Given the description of an element on the screen output the (x, y) to click on. 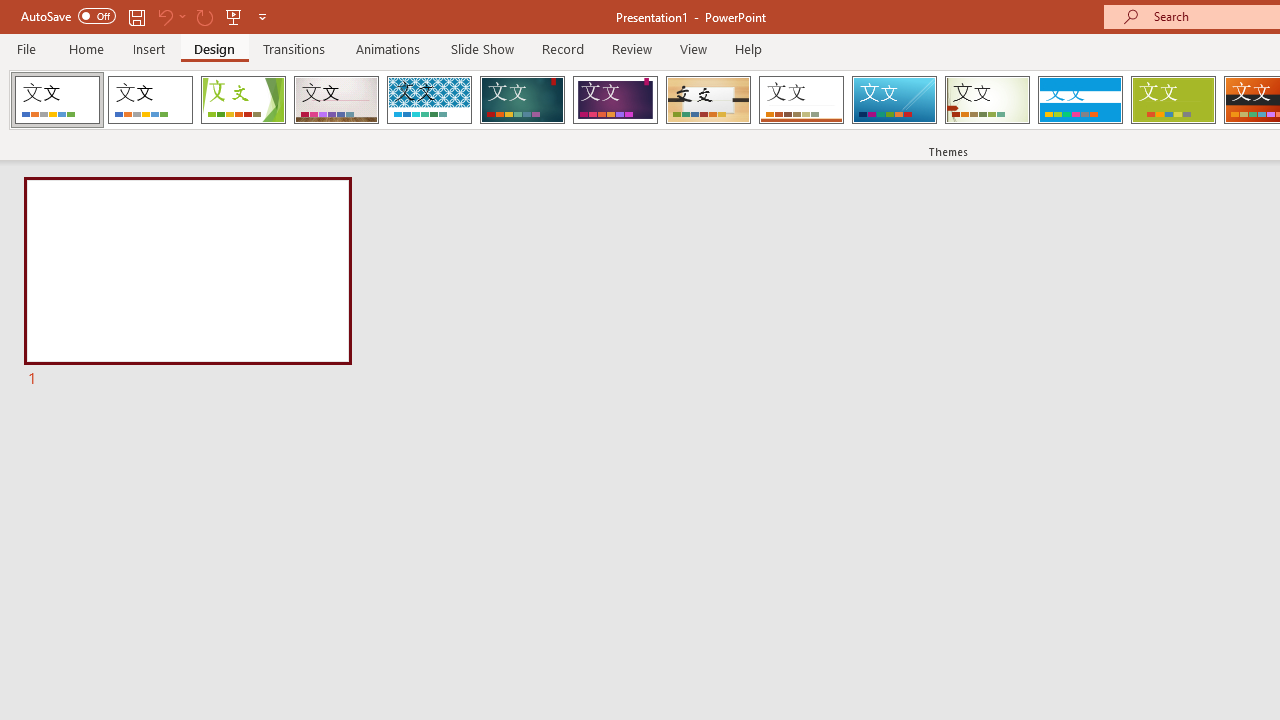
Slice Loading Preview... (893, 100)
Basis Loading Preview... (1172, 100)
Organic Loading Preview... (708, 100)
Banded Loading Preview... (1080, 100)
Ion Loading Preview... (522, 100)
Ion Boardroom Loading Preview... (615, 100)
Wisp Loading Preview... (987, 100)
